Given the description of an element on the screen output the (x, y) to click on. 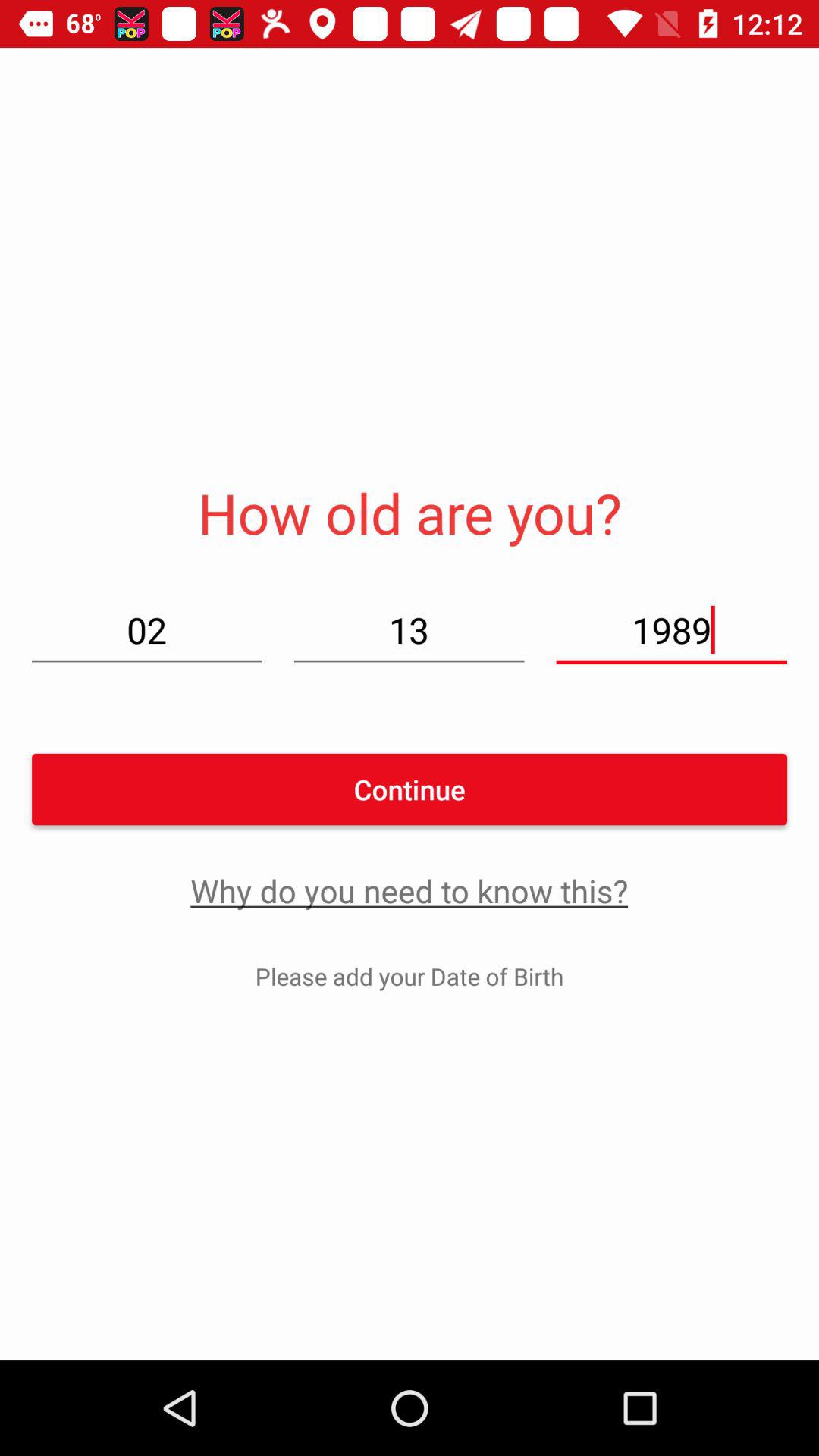
turn off the item on the left (146, 629)
